Given the description of an element on the screen output the (x, y) to click on. 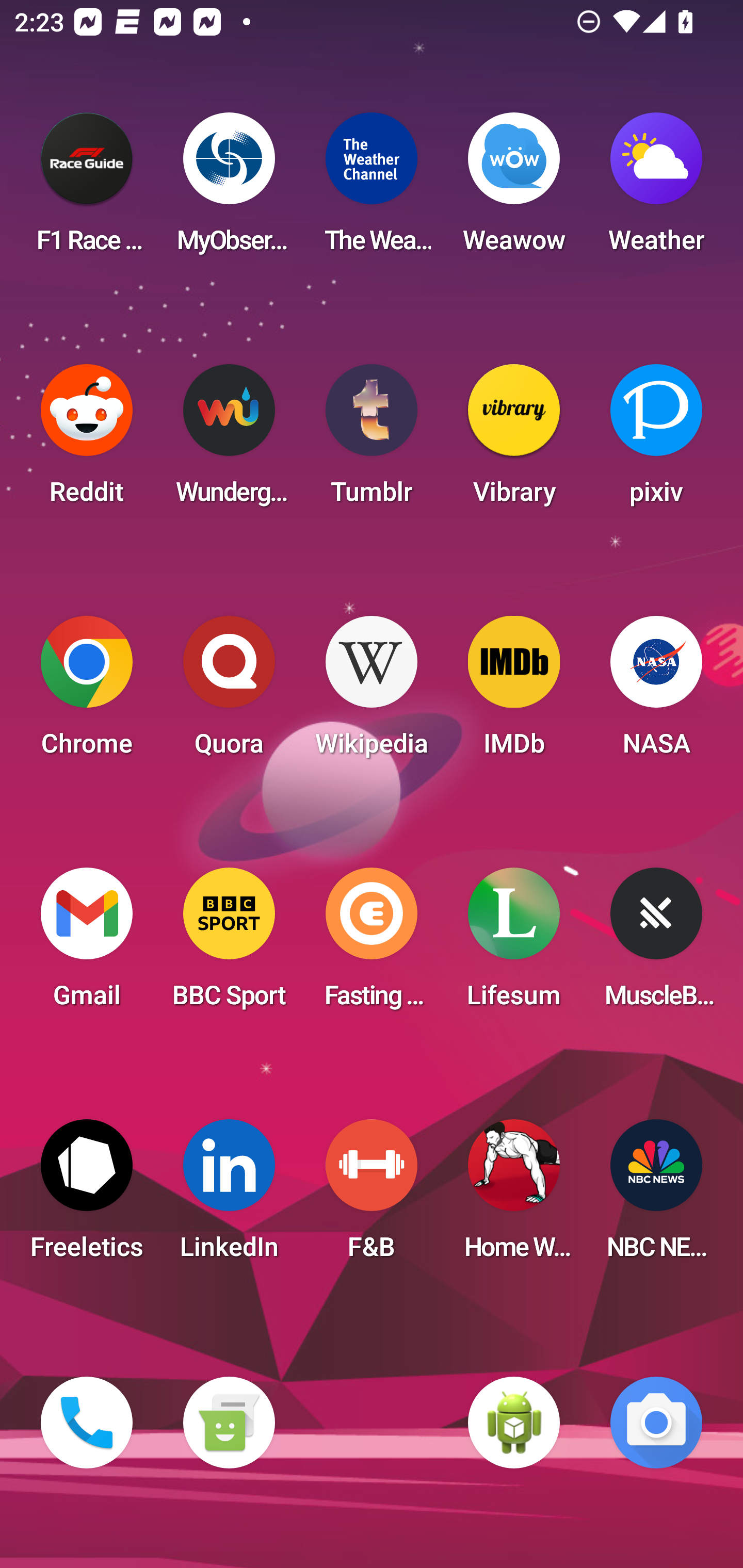
F1 Race Guide (86, 188)
MyObservatory (228, 188)
The Weather Channel (371, 188)
Weawow (513, 188)
Weather (656, 188)
Reddit (86, 440)
Wunderground (228, 440)
Tumblr (371, 440)
Vibrary (513, 440)
pixiv (656, 440)
Chrome (86, 692)
Quora (228, 692)
Wikipedia (371, 692)
IMDb (513, 692)
NASA (656, 692)
Gmail (86, 943)
BBC Sport (228, 943)
Fasting Coach (371, 943)
Lifesum (513, 943)
MuscleBooster (656, 943)
Freeletics (86, 1195)
LinkedIn (228, 1195)
F&B (371, 1195)
Home Workout (513, 1195)
NBC NEWS (656, 1195)
Phone (86, 1422)
Messaging (228, 1422)
WebView Browser Tester (513, 1422)
Camera (656, 1422)
